Given the description of an element on the screen output the (x, y) to click on. 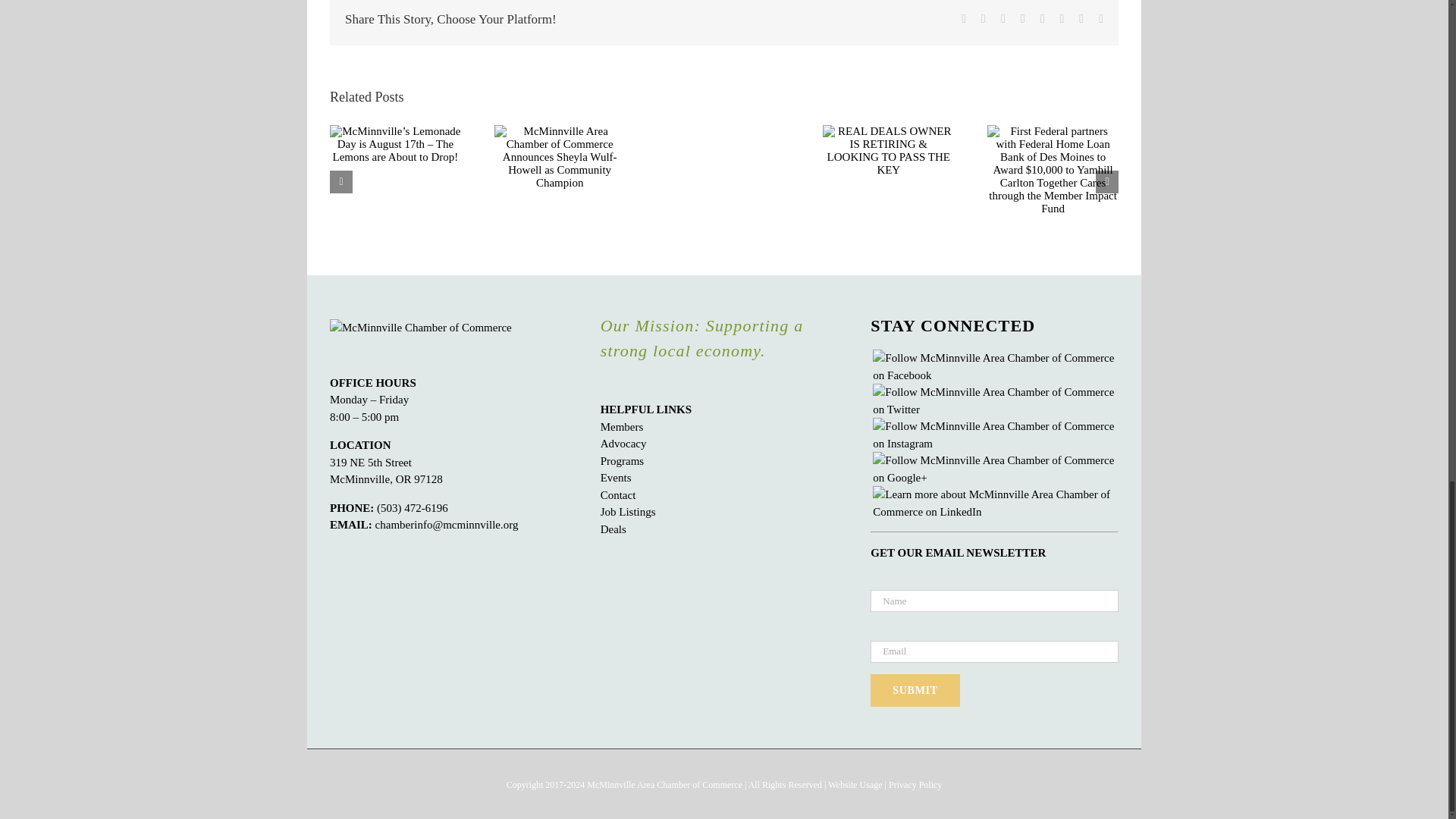
SUBMIT (914, 690)
